Given the description of an element on the screen output the (x, y) to click on. 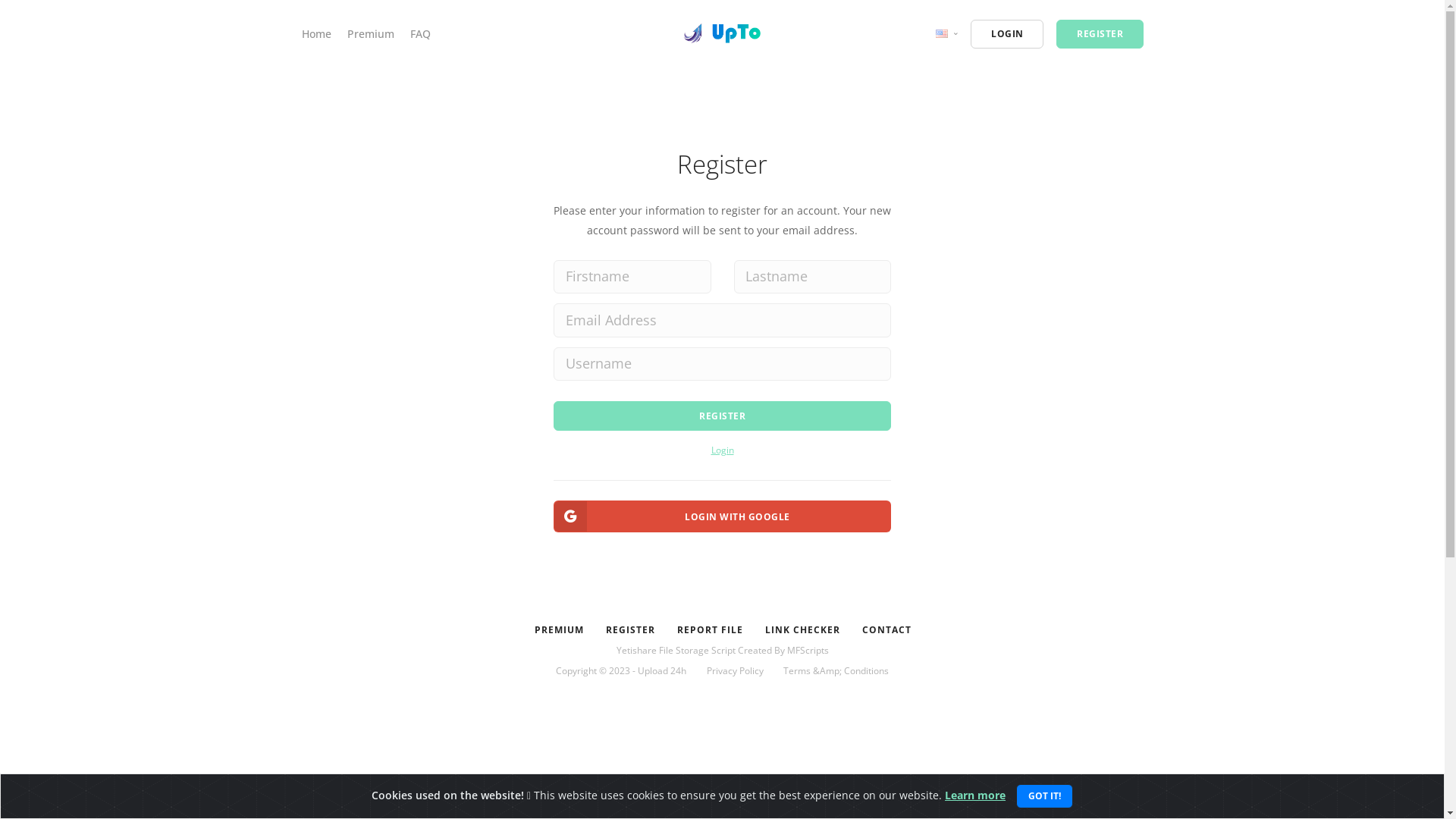
LINK CHECKER Element type: text (801, 630)
Terms &Amp; Conditions Element type: text (835, 670)
LOGIN WITH GOOGLE Element type: text (722, 516)
REGISTER Element type: text (722, 415)
GOT IT! Element type: text (1044, 796)
Login Element type: text (722, 449)
REGISTER Element type: text (1099, 33)
Learn more Element type: text (974, 794)
FAQ Element type: text (420, 33)
REPORT FILE Element type: text (708, 630)
REGISTER Element type: text (629, 630)
Premium Element type: text (370, 33)
CONTACT Element type: text (885, 630)
MFScripts Element type: text (807, 649)
LOGIN Element type: text (1006, 33)
Privacy Policy Element type: text (734, 670)
Yetishare File Storage Script Element type: text (674, 649)
Home Element type: text (316, 33)
PREMIUM Element type: text (557, 630)
